Given the description of an element on the screen output the (x, y) to click on. 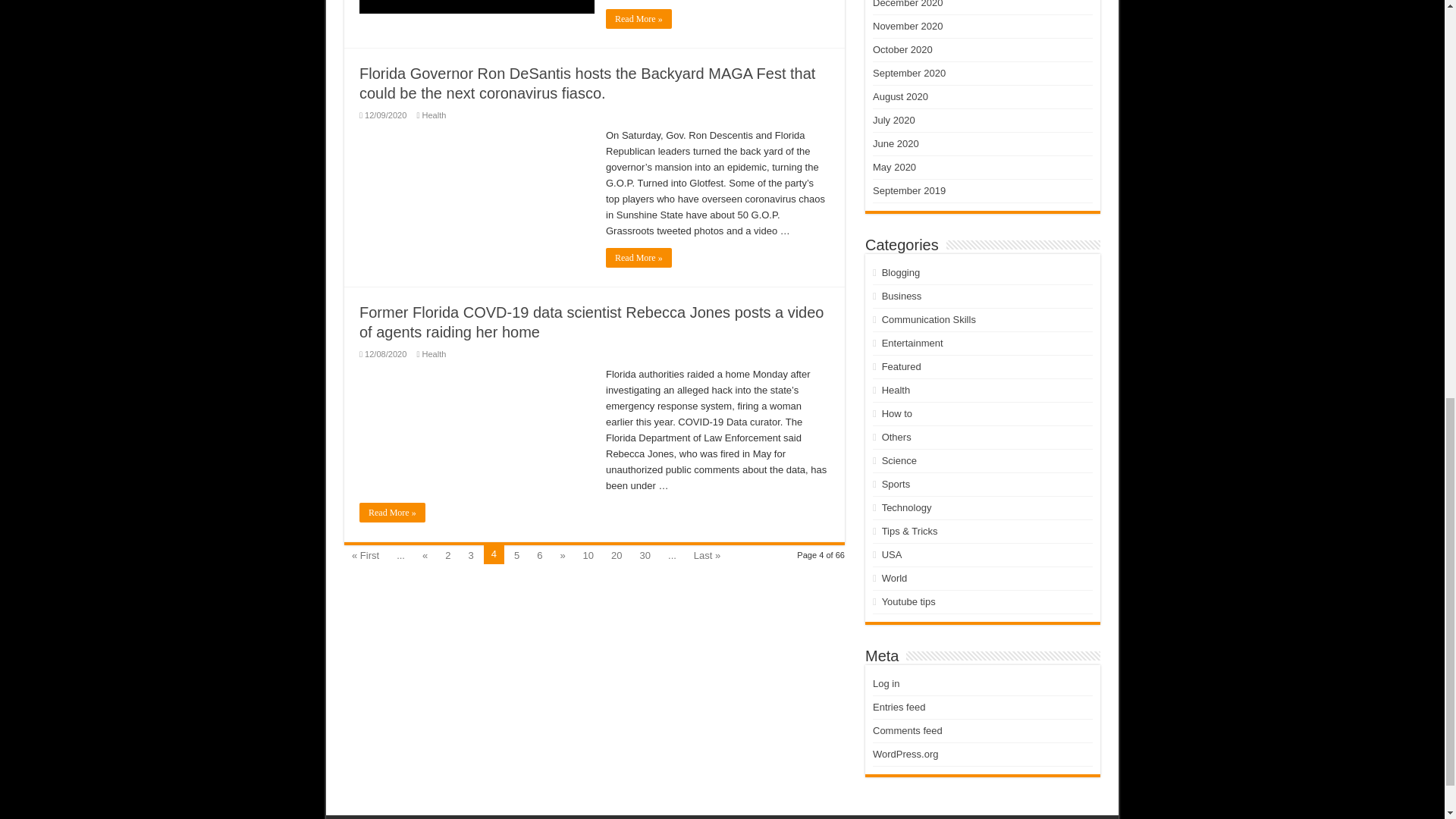
Scroll To Top (1421, 60)
30 (644, 554)
2 (448, 554)
5 (516, 554)
6 (539, 554)
3 (470, 554)
20 (616, 554)
10 (588, 554)
